Given the description of an element on the screen output the (x, y) to click on. 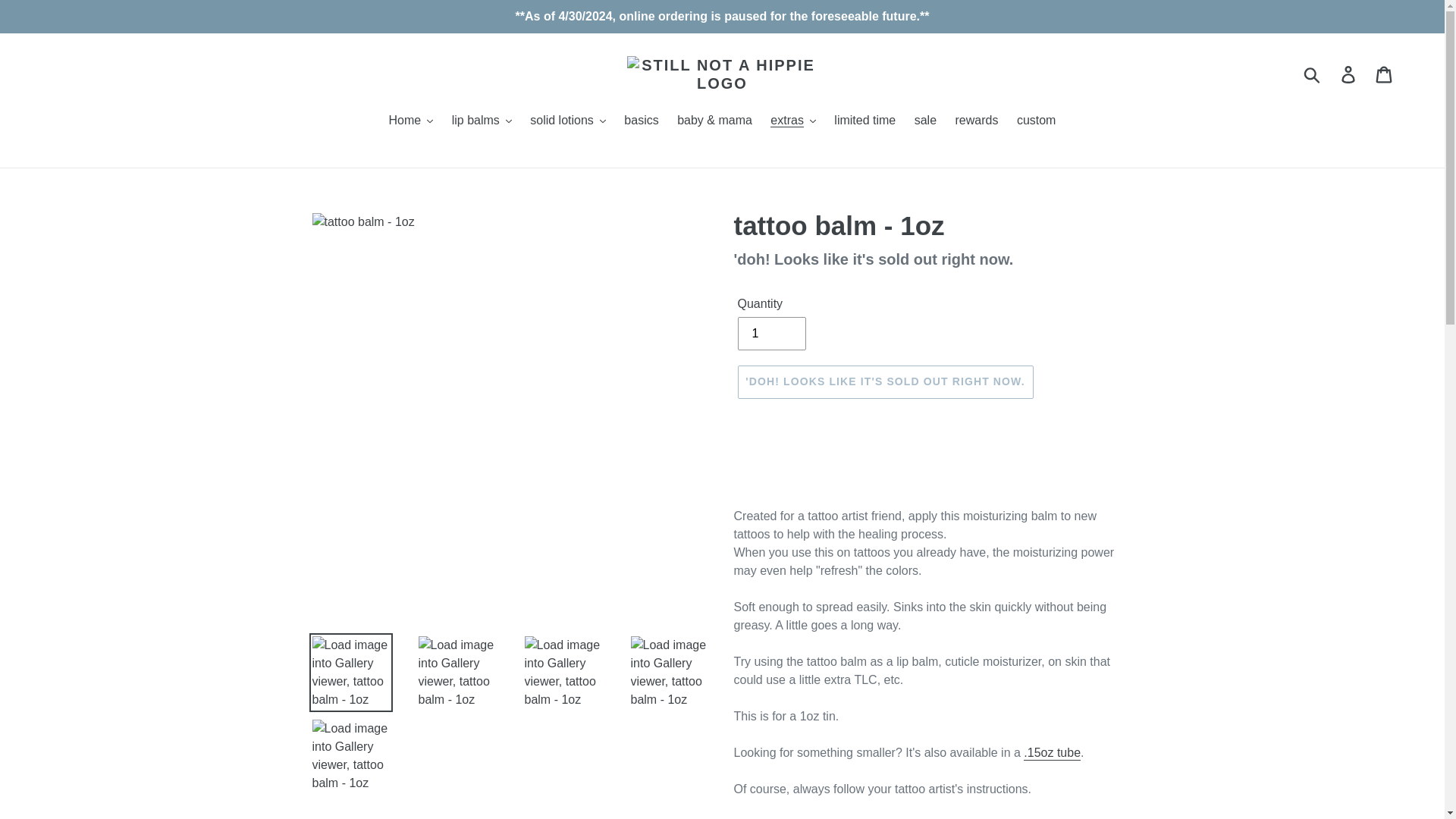
1 (770, 333)
Submit (1313, 73)
Still Not A Hippie's tattoo balm tube (1051, 753)
Log in (1349, 73)
Cart (1385, 73)
